Given the description of an element on the screen output the (x, y) to click on. 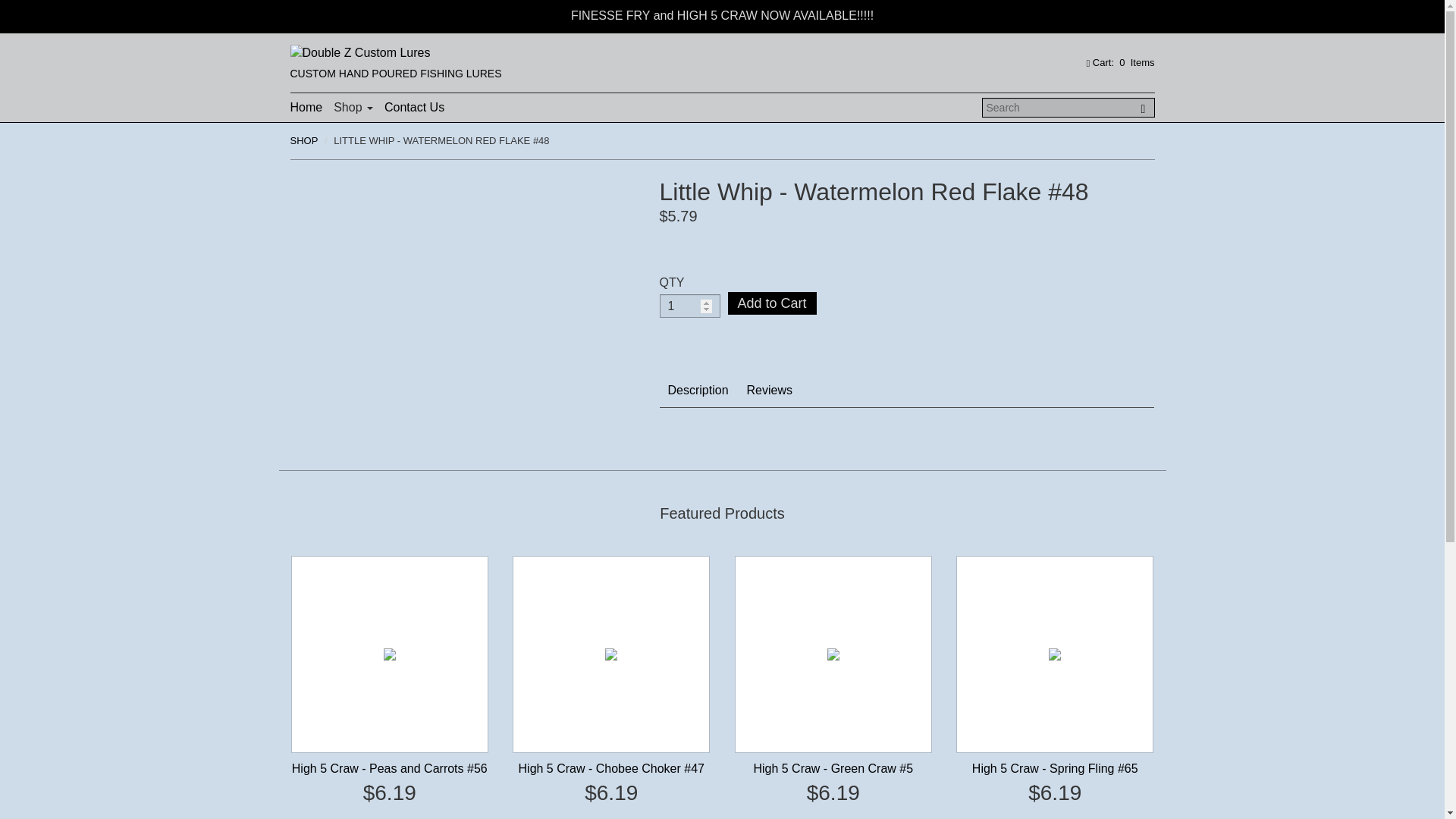
Add to Cart (772, 302)
Contact Us (414, 107)
Reviews (769, 390)
SHOP (303, 140)
Shop (352, 107)
Cart:  0  Items (1117, 62)
Add to Cart (772, 302)
Description (697, 390)
Home (305, 107)
1 (689, 305)
